Given the description of an element on the screen output the (x, y) to click on. 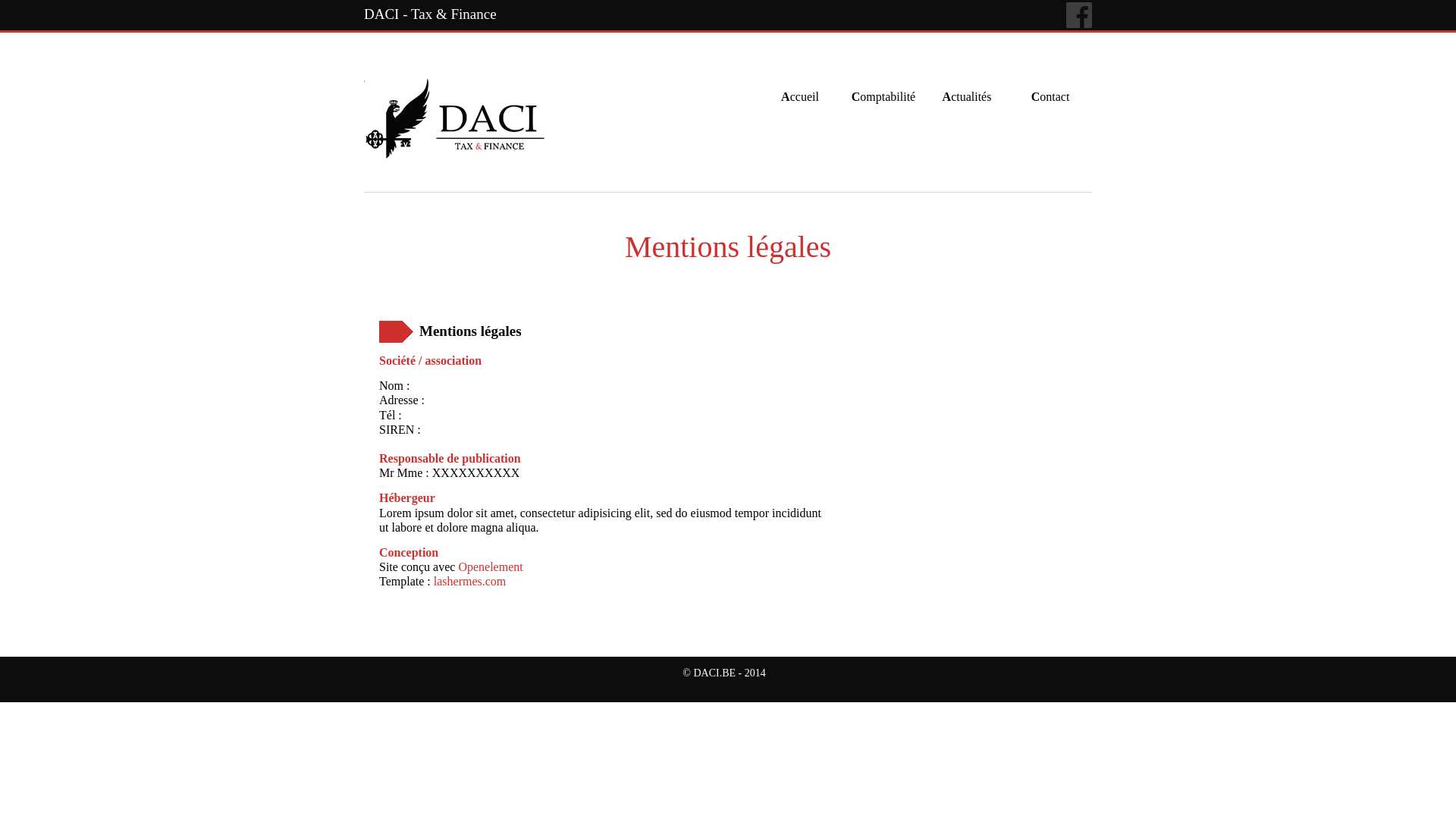
Openelement Element type: text (490, 566)
lashermes.com Element type: text (469, 580)
Accueil Element type: text (799, 81)
Contact Element type: text (1050, 81)
